Given the description of an element on the screen output the (x, y) to click on. 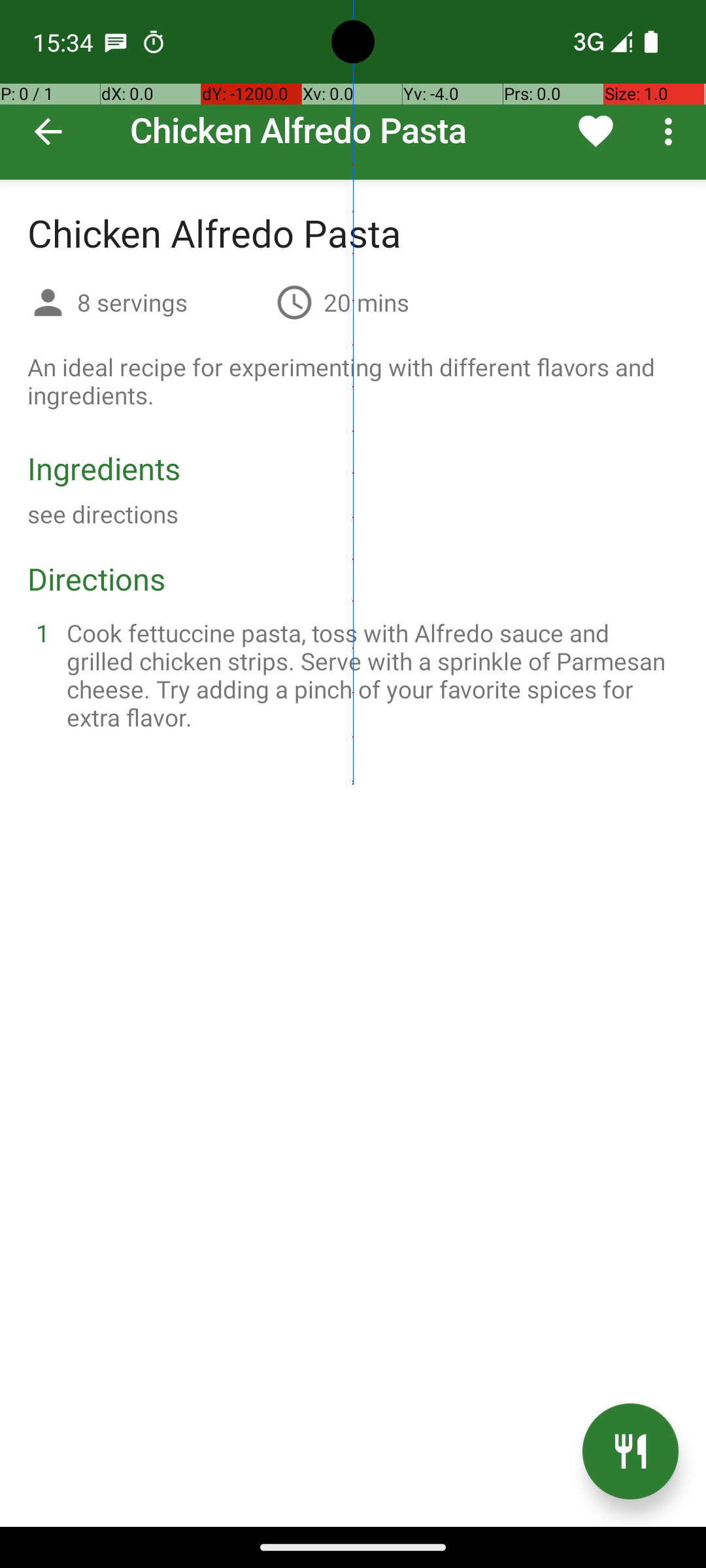
Cook fettuccine pasta, toss with Alfredo sauce and grilled chicken strips. Serve with a sprinkle of Parmesan cheese. Try adding a pinch of your favorite spices for extra flavor. Element type: android.widget.TextView (368, 674)
